Given the description of an element on the screen output the (x, y) to click on. 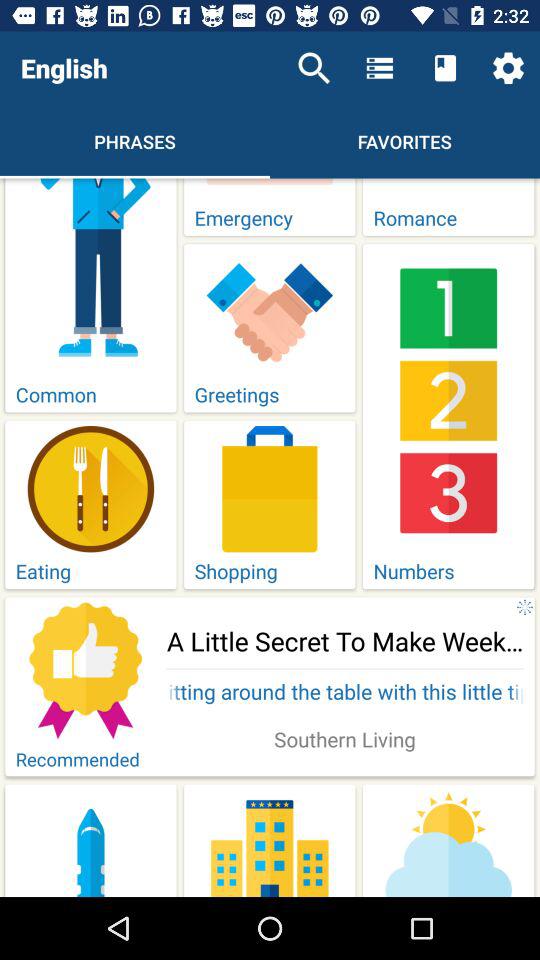
open the item above favorites (444, 67)
